Given the description of an element on the screen output the (x, y) to click on. 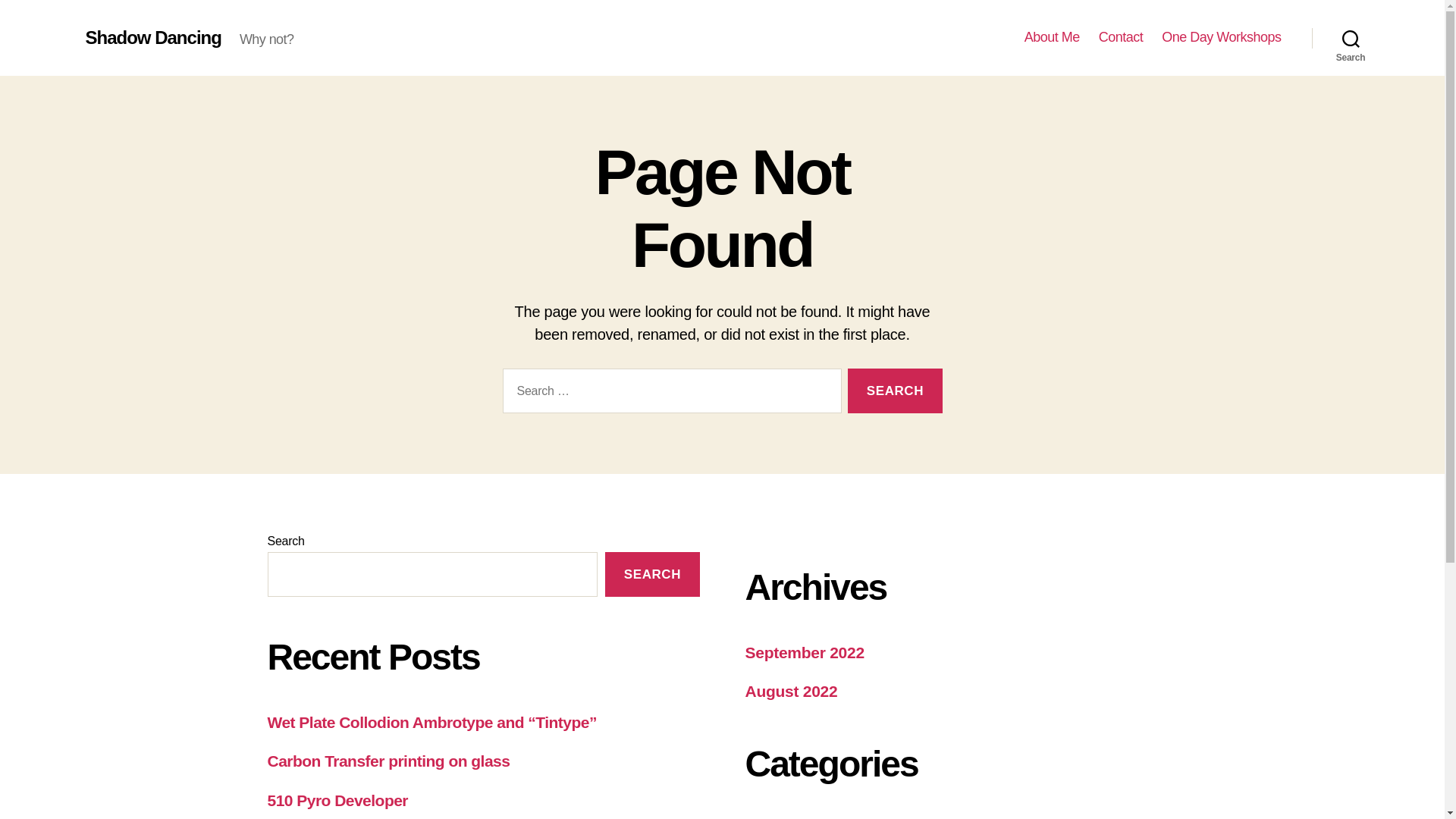
One Day Workshops (1221, 37)
September 2022 (803, 651)
Carbon Transfer printing on glass (387, 760)
Contact (1120, 37)
Search (894, 390)
SEARCH (651, 574)
August 2022 (790, 691)
Search (1350, 37)
Search (894, 390)
Search (894, 390)
